Given the description of an element on the screen output the (x, y) to click on. 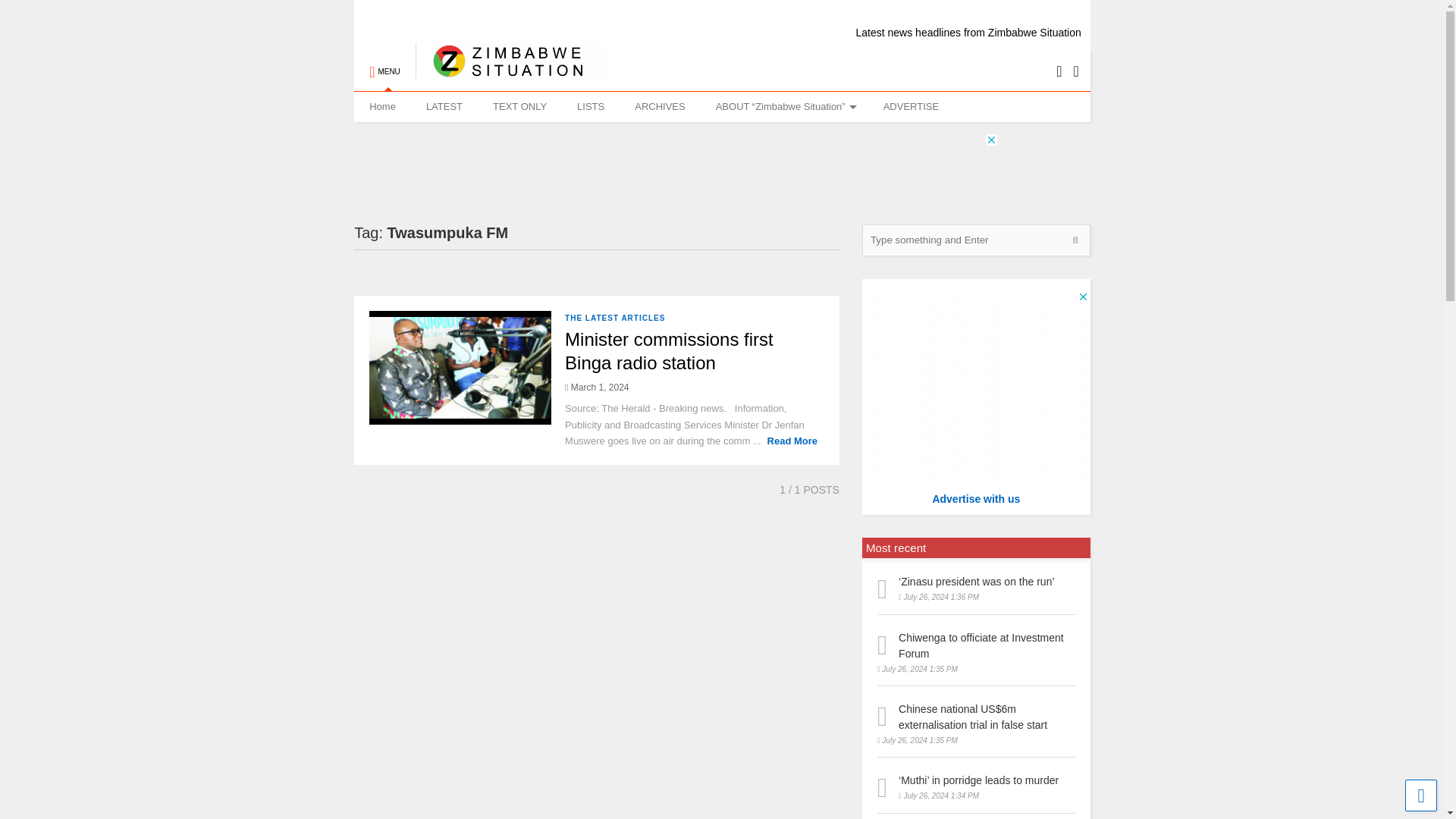
Minister commissions first Binga radio station (668, 351)
3rd party ad content (975, 384)
March 1, 2024 (596, 387)
ADVERTISE (910, 106)
Home (381, 106)
Advertise with us (975, 499)
LATEST (443, 106)
Zimbabwe Situation (510, 71)
Most recent (896, 547)
Chiwenga to officiate at Investment Forum  (981, 645)
Minister commissions first Binga radio station (668, 351)
July 26, 2024 1:35 PM (917, 669)
MENU (383, 65)
Read More (791, 440)
3rd party ad content (721, 167)
